Given the description of an element on the screen output the (x, y) to click on. 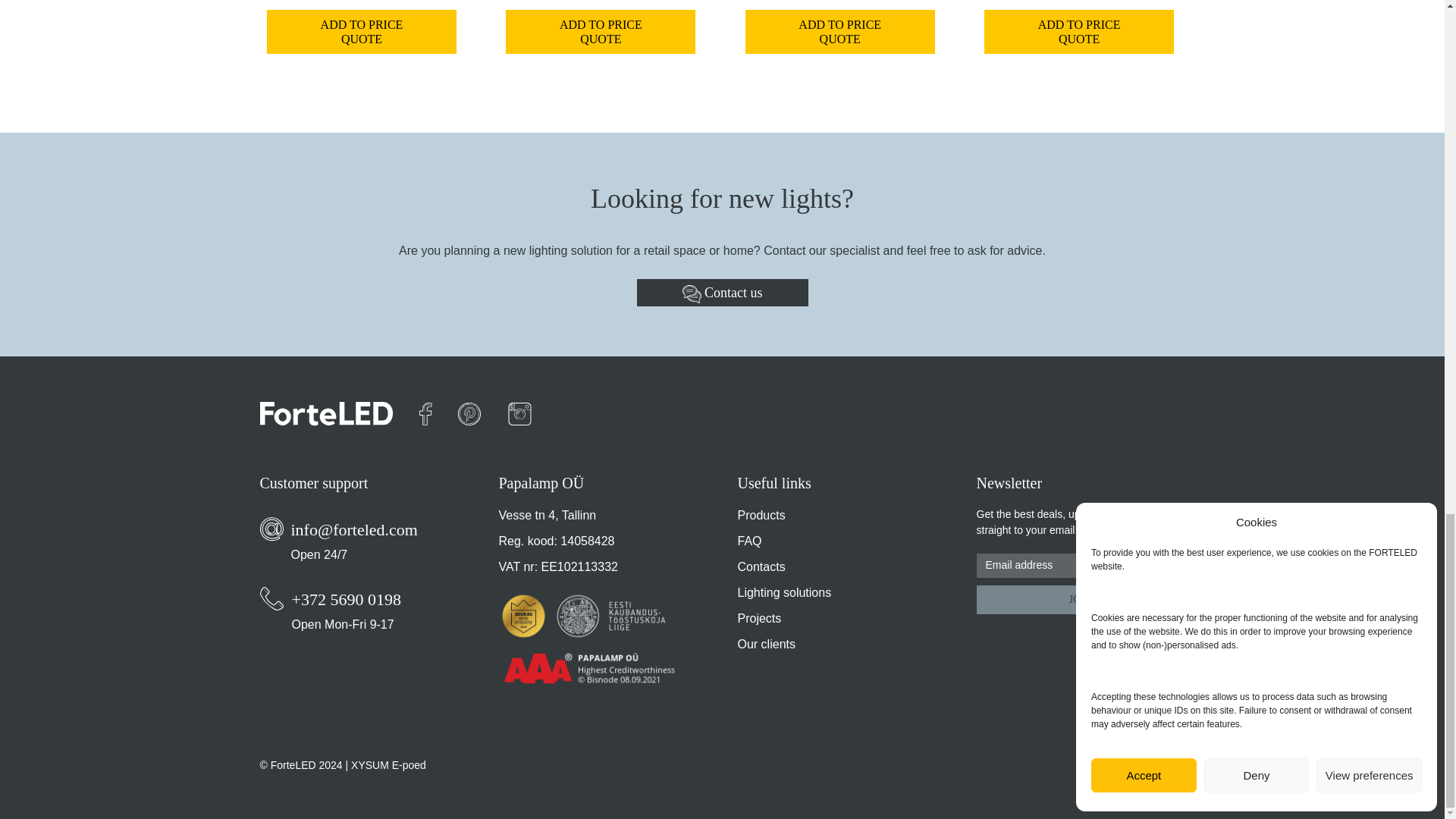
Join (1080, 599)
